Given the description of an element on the screen output the (x, y) to click on. 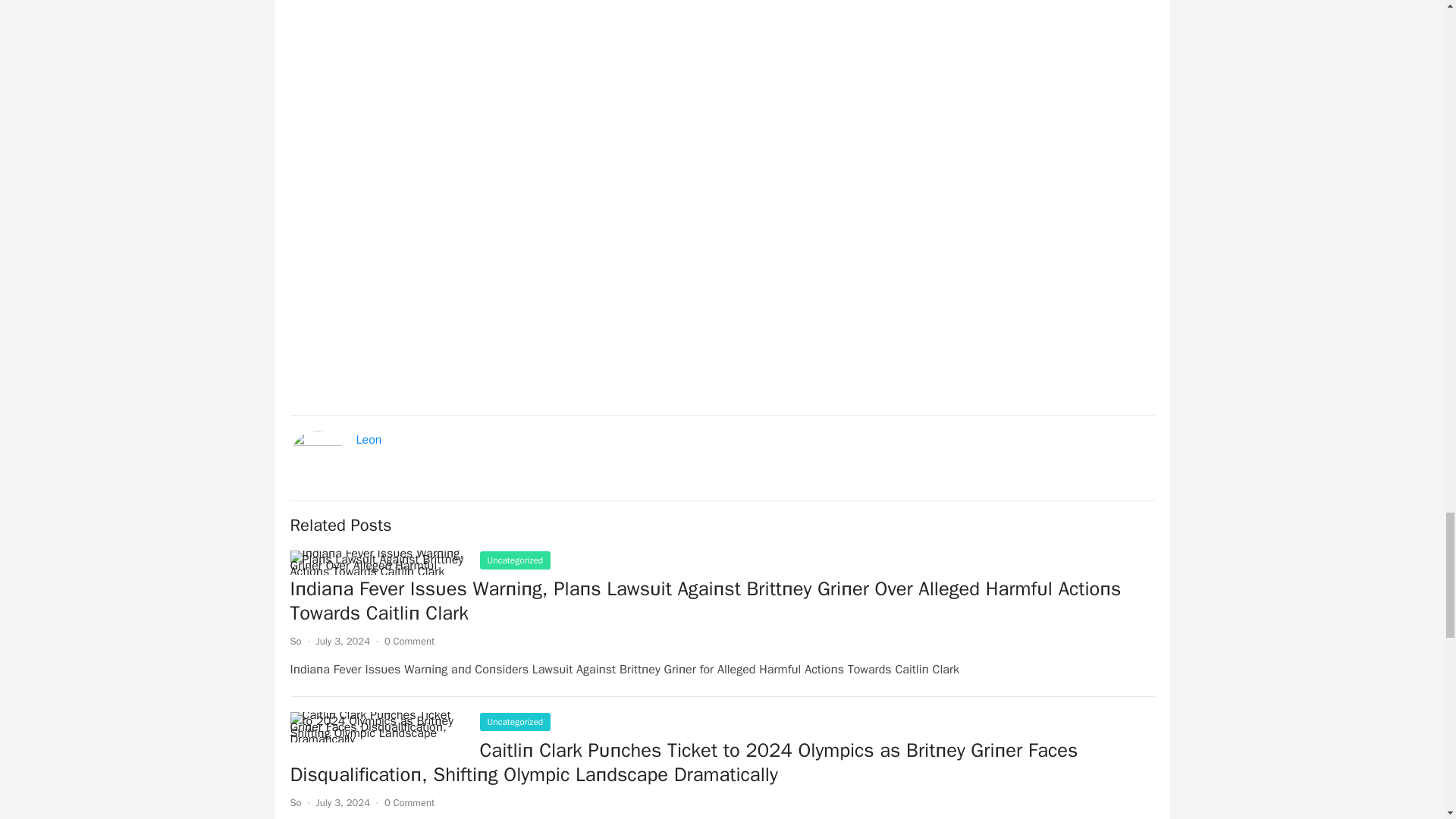
Uncategorized (514, 721)
Uncategorized (514, 560)
Leon (368, 439)
0 Comment (408, 640)
